Given the description of an element on the screen output the (x, y) to click on. 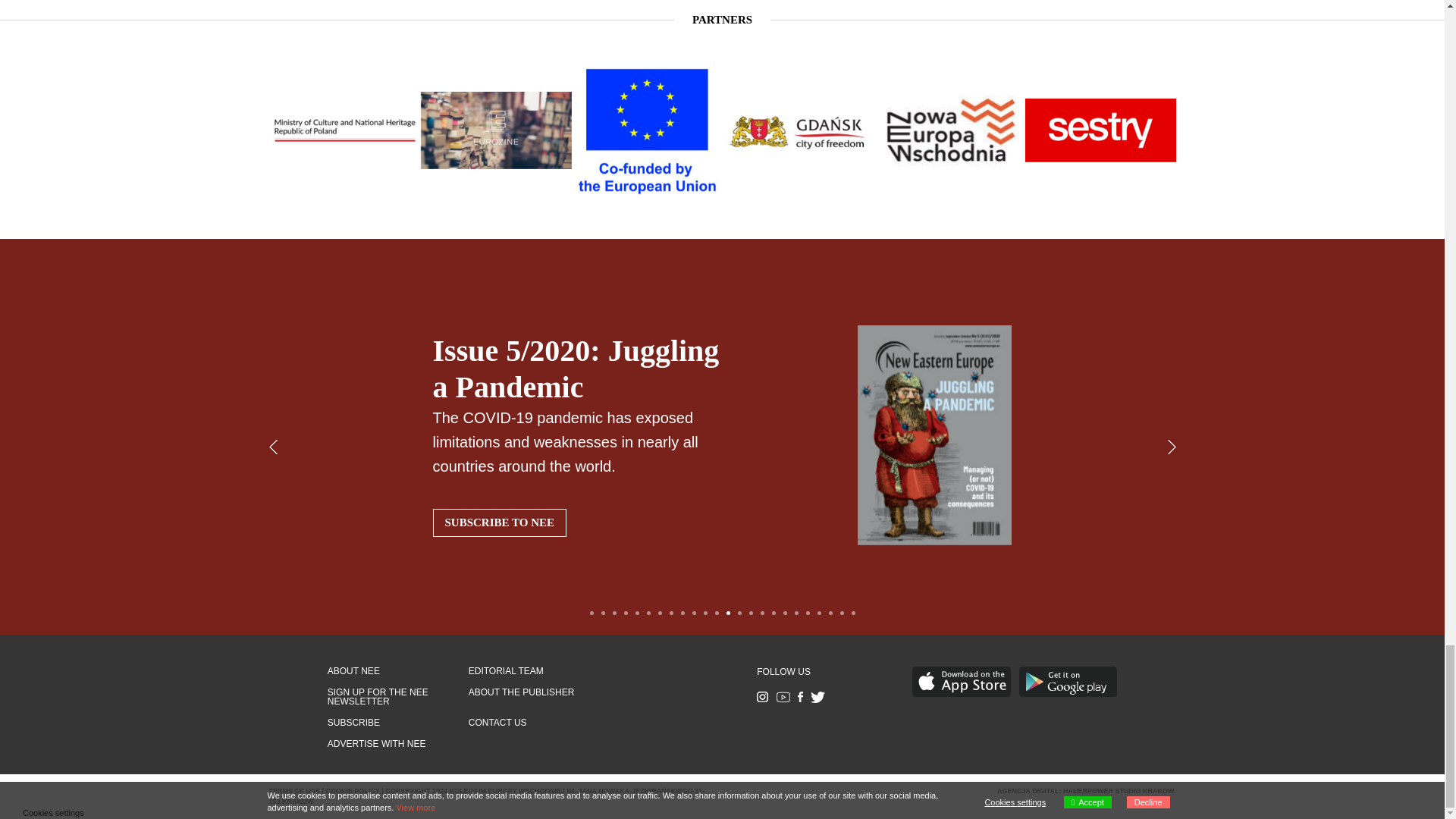
MKiDN (344, 130)
Sestry (193, 129)
